Given the description of an element on the screen output the (x, y) to click on. 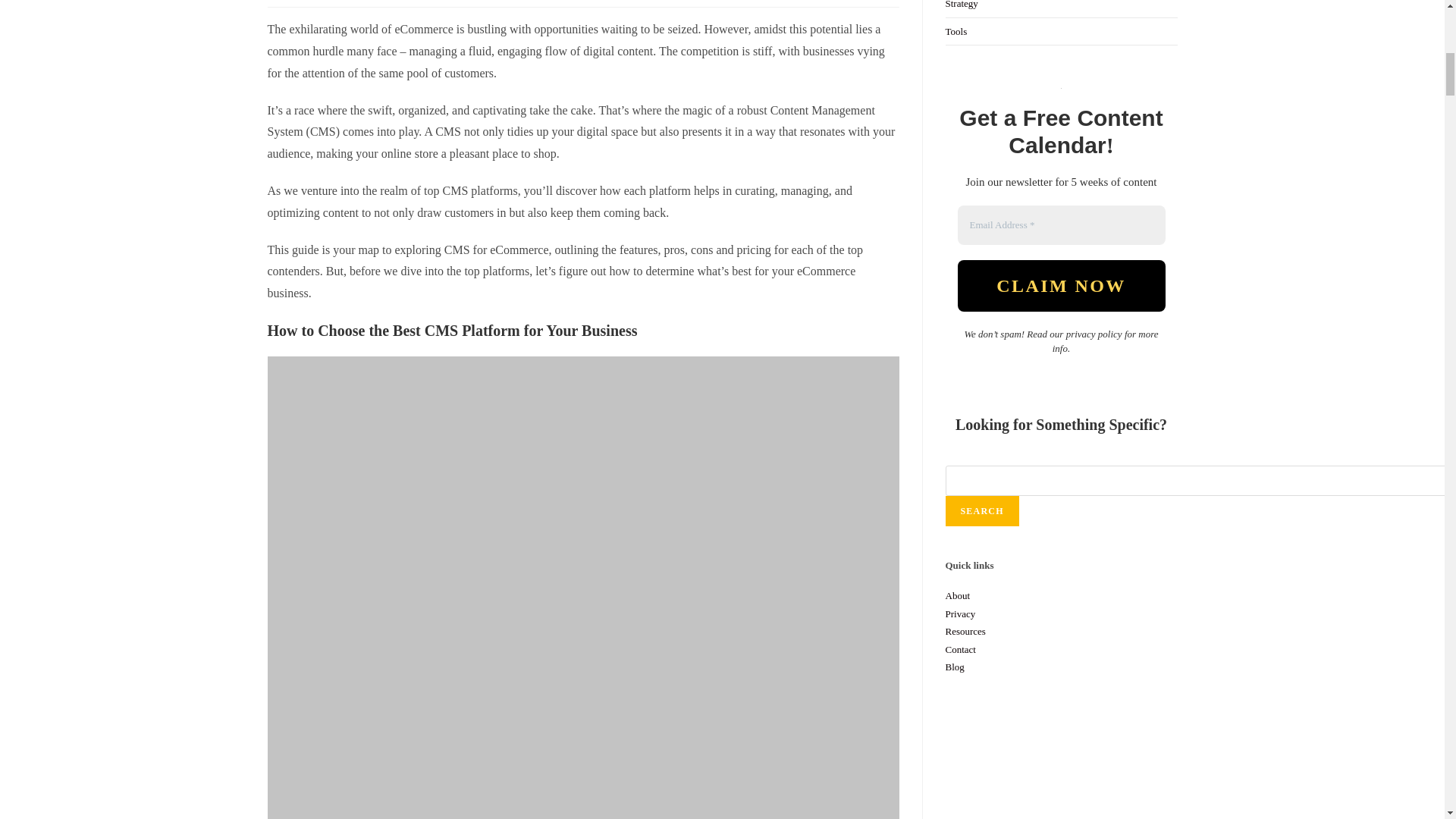
Resources (964, 631)
Tools (955, 30)
Blog (953, 666)
About (956, 595)
Privacy (959, 613)
Contact (959, 649)
CLAIM NOW (1060, 286)
CLAIM NOW (1060, 286)
SEARCH (980, 511)
Email Address (1060, 224)
